Given the description of an element on the screen output the (x, y) to click on. 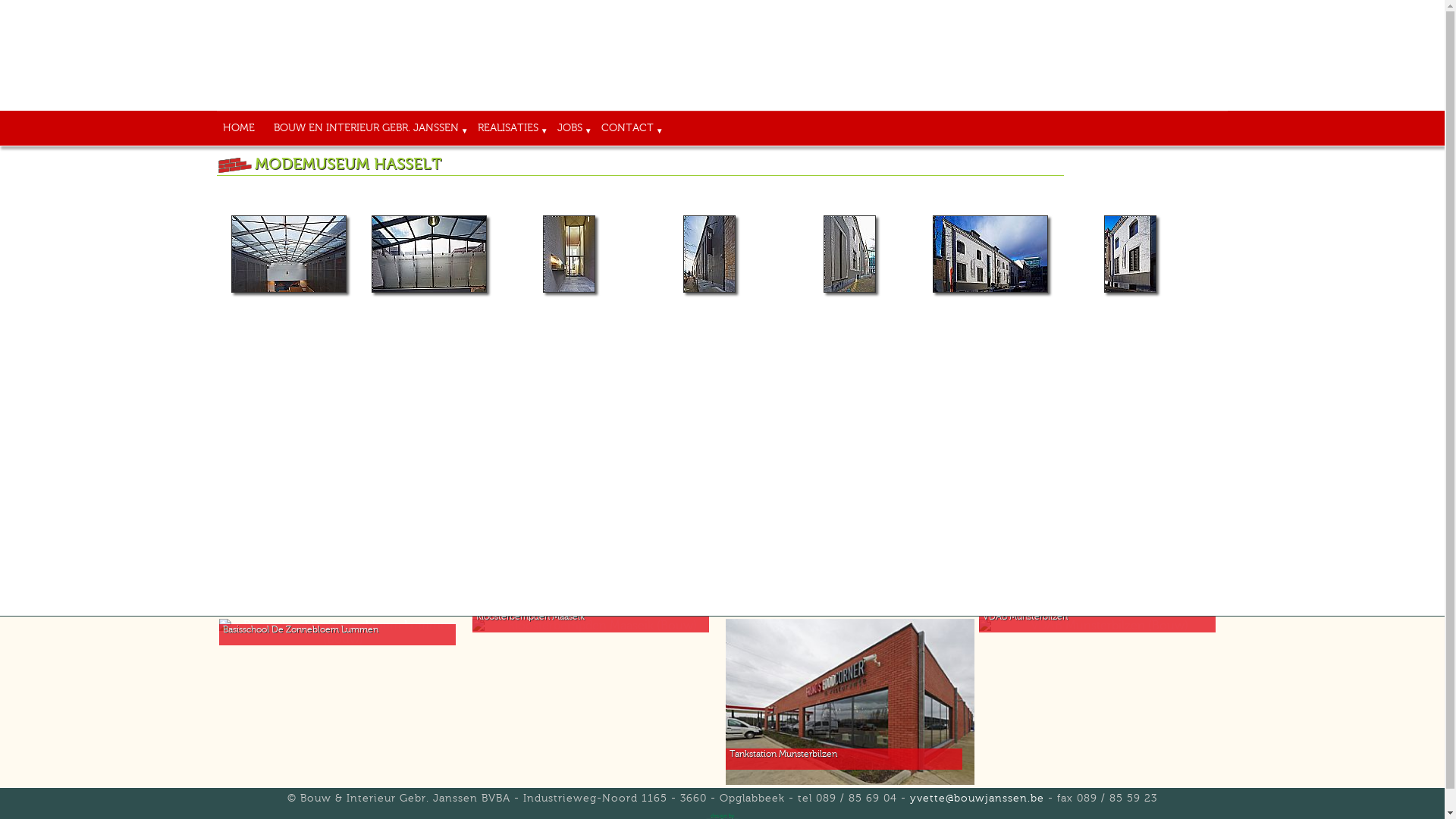
Modemuseum Hasselt Element type: hover (849, 253)
Modemuseum Hasselt Element type: hover (990, 253)
VDAB Munsterbilzen (Bouw) Element type: hover (1103, 625)
JOBS Element type: text (572, 128)
Modemuseum Hasselt Element type: hover (428, 253)
Basisschool De Zonnebloem Lummen (Bouw) Element type: hover (343, 632)
Tankstation Munsterbilzen (Bouw) Element type: hover (849, 701)
Kloosterbempden Maaseik (Bouw) Element type: hover (596, 625)
REALISATIES Element type: text (510, 128)
Modemuseum Hasselt Element type: hover (288, 253)
HOME Element type: text (241, 128)
yvette@bouwjanssen.be Element type: text (977, 798)
Modemuseum Hasselt Element type: hover (1130, 253)
Modemuseum Hasselt Element type: hover (568, 253)
Modemuseum Hasselt Element type: hover (709, 253)
BOUW EN INTERIEUR GEBR. JANSSEN Element type: text (368, 128)
CONTACT Element type: text (630, 128)
